Given the description of an element on the screen output the (x, y) to click on. 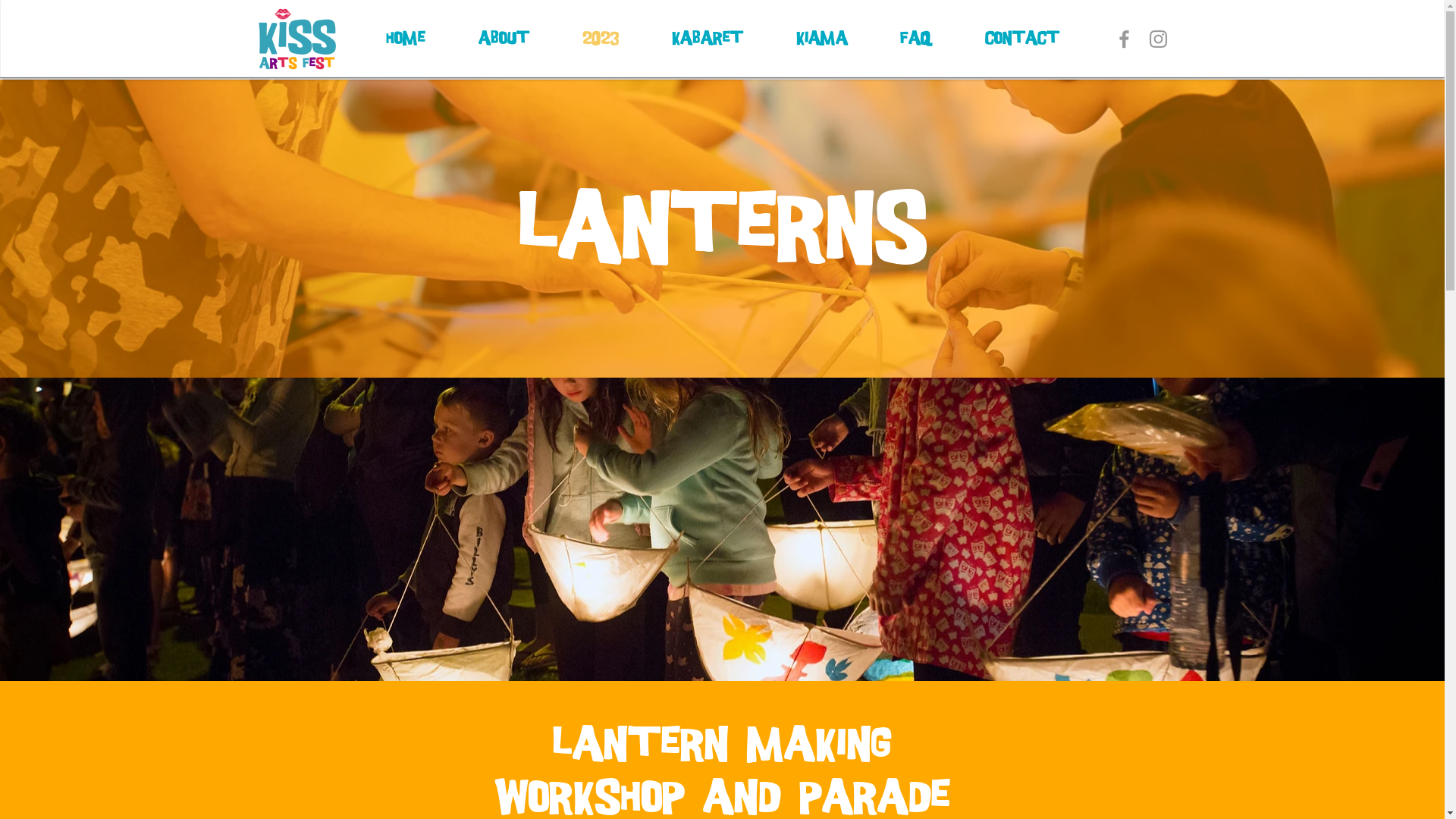
About Element type: text (503, 38)
Home Element type: text (405, 38)
Kiama Element type: text (820, 38)
2023 Element type: text (599, 38)
Kabaret Element type: text (706, 38)
Contact Element type: text (1021, 38)
FAQ Element type: text (915, 38)
